Given the description of an element on the screen output the (x, y) to click on. 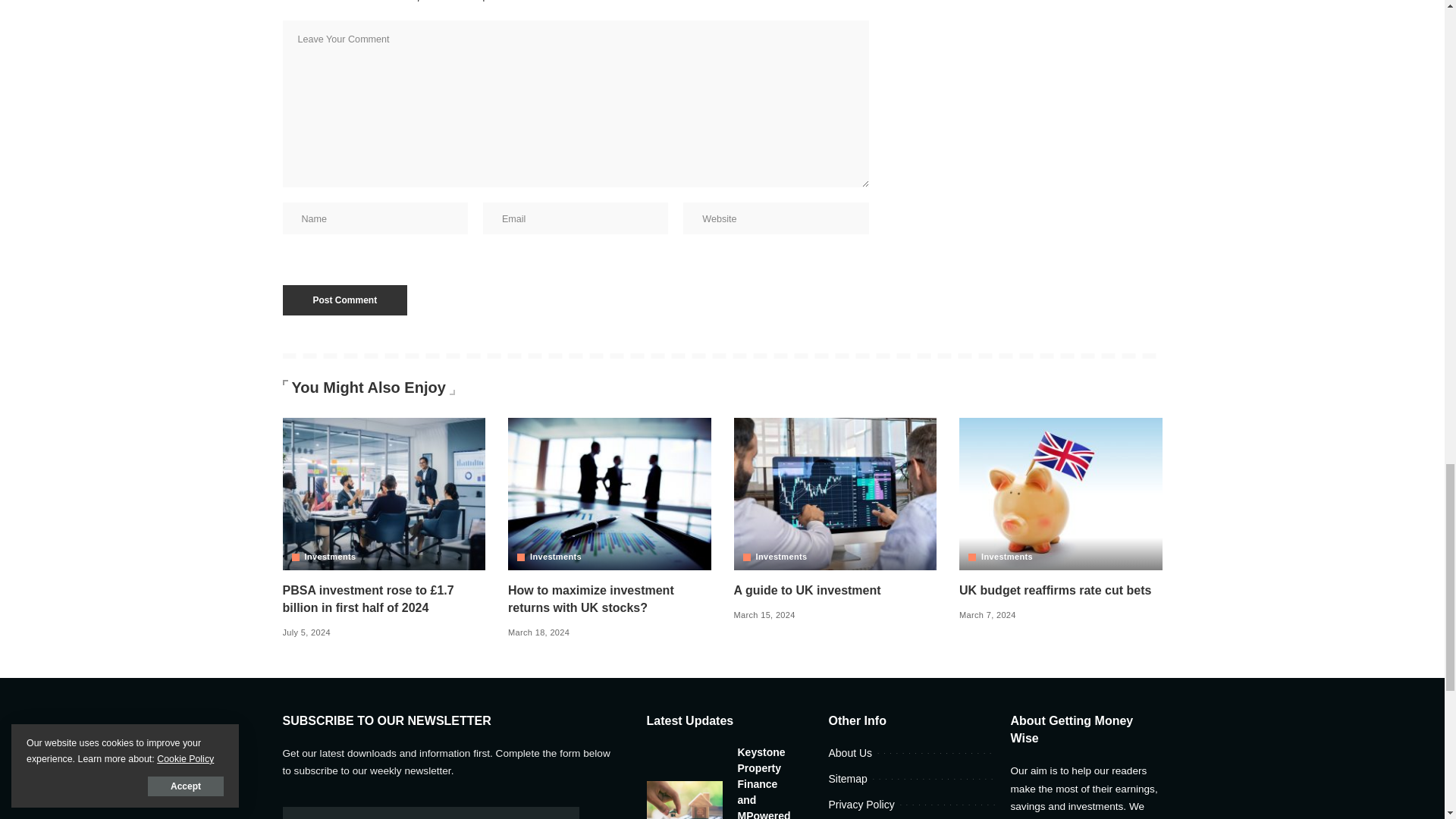
Post Comment (344, 300)
